Given the description of an element on the screen output the (x, y) to click on. 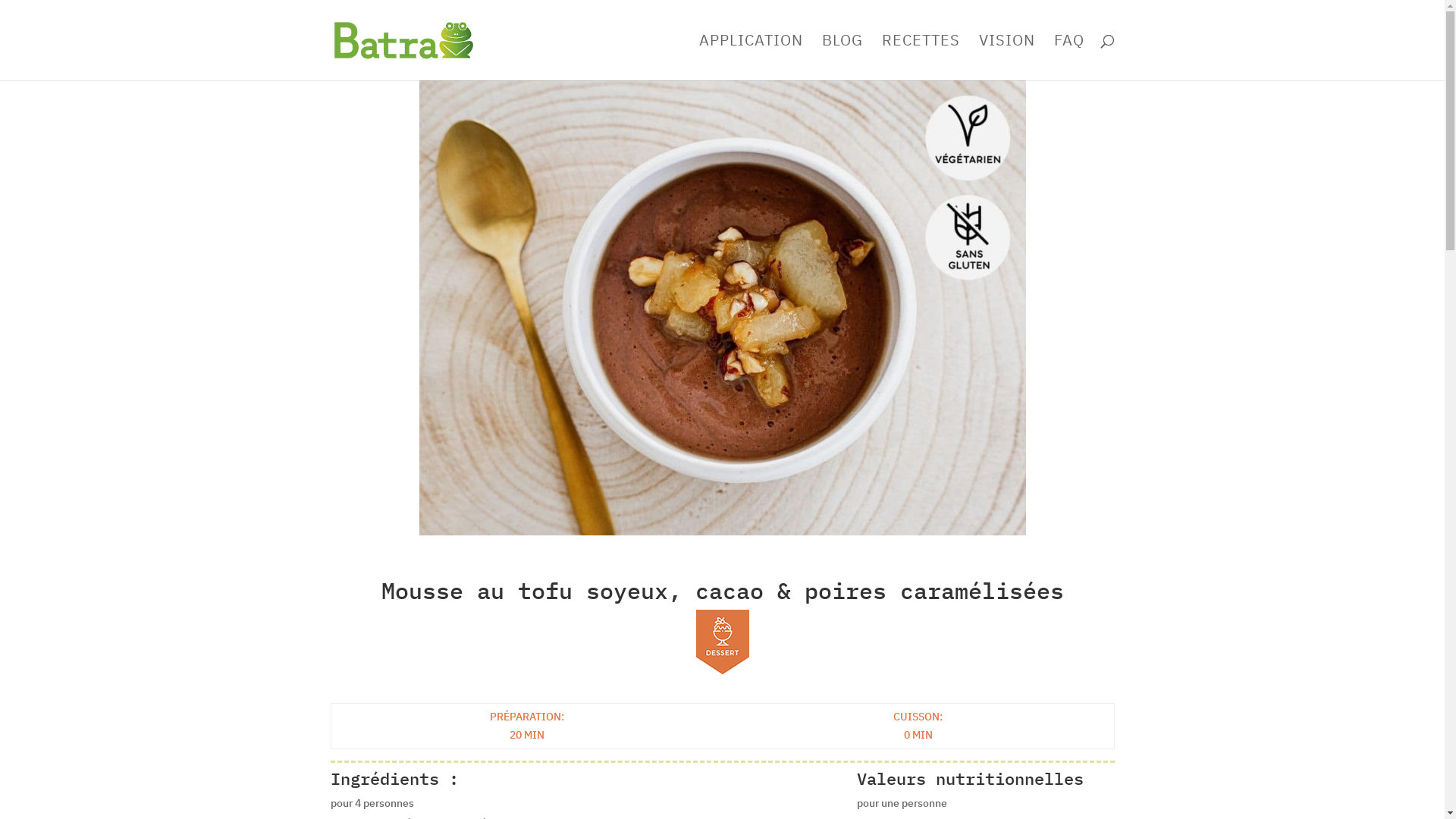
FAQ Element type: text (1069, 57)
APPLICATION Element type: text (751, 57)
BLOG Element type: text (842, 57)
RECETTES Element type: text (920, 57)
VISION Element type: text (1006, 57)
